Given the description of an element on the screen output the (x, y) to click on. 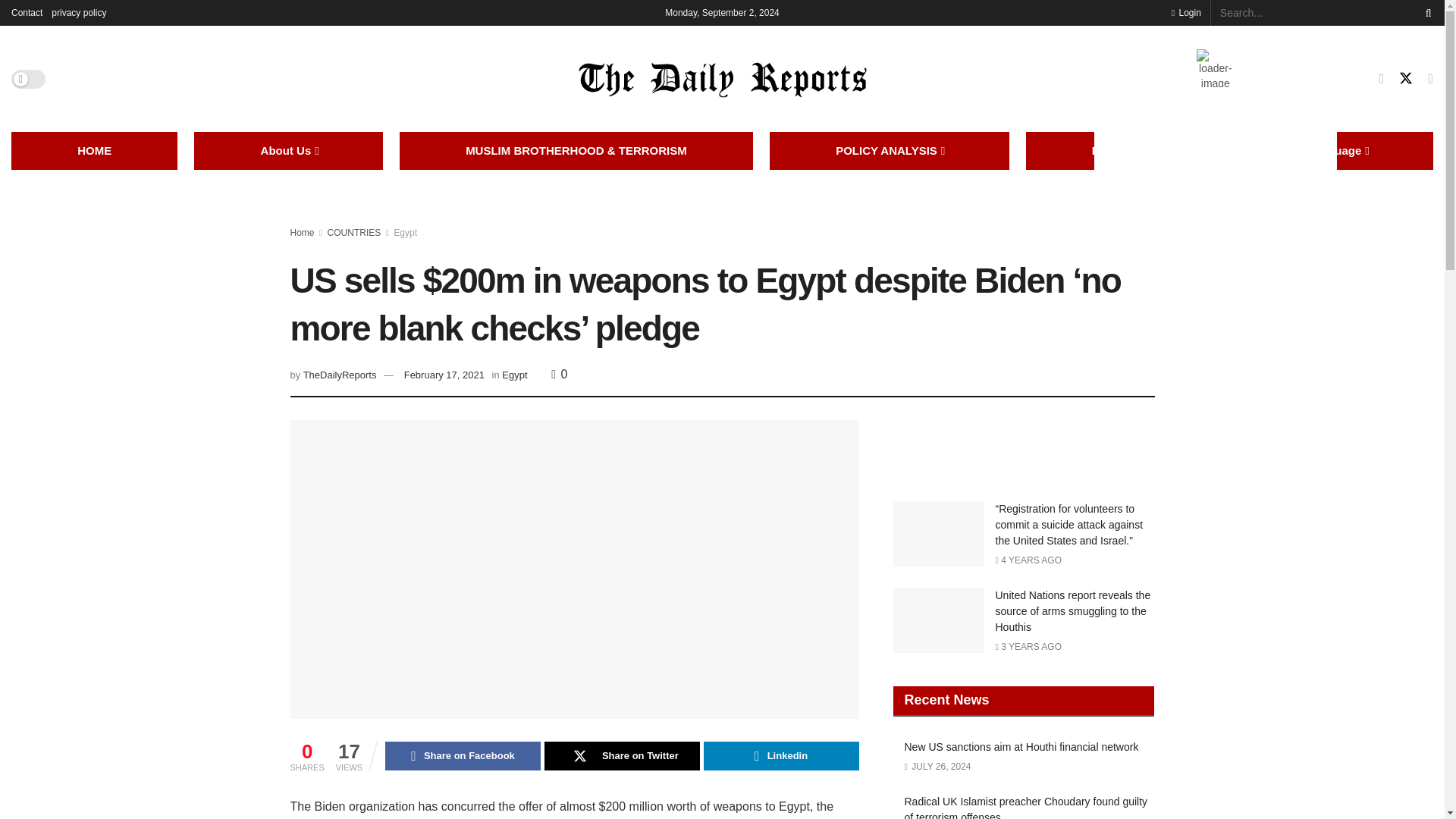
Contact (26, 12)
About Us (287, 150)
privacy policy (78, 12)
Login (1186, 12)
PROGRAMS (1125, 150)
POLICY ANALYSIS (889, 150)
Language (1336, 150)
HOME (94, 150)
